Given the description of an element on the screen output the (x, y) to click on. 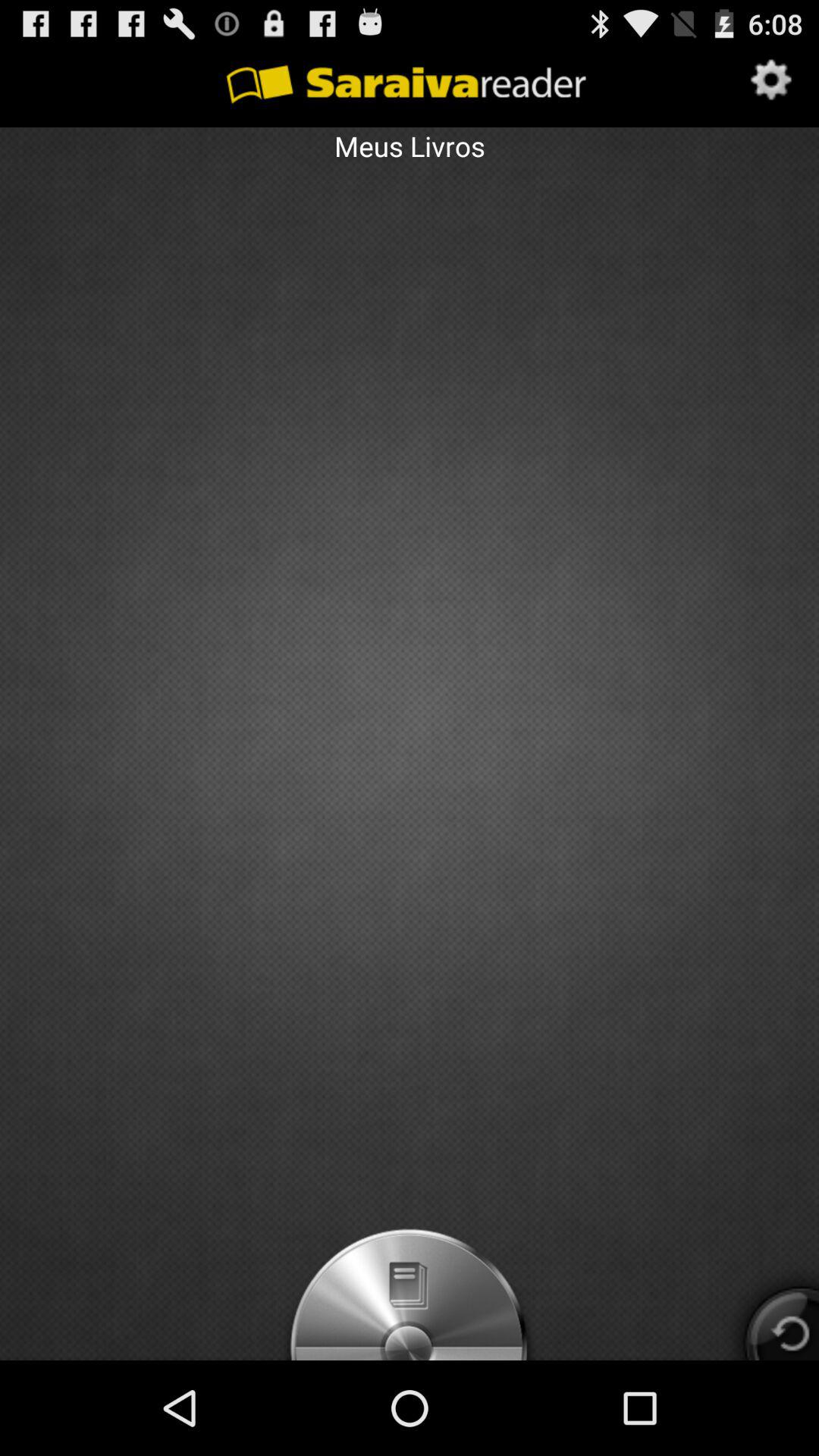
press app above meus livros (772, 81)
